Given the description of an element on the screen output the (x, y) to click on. 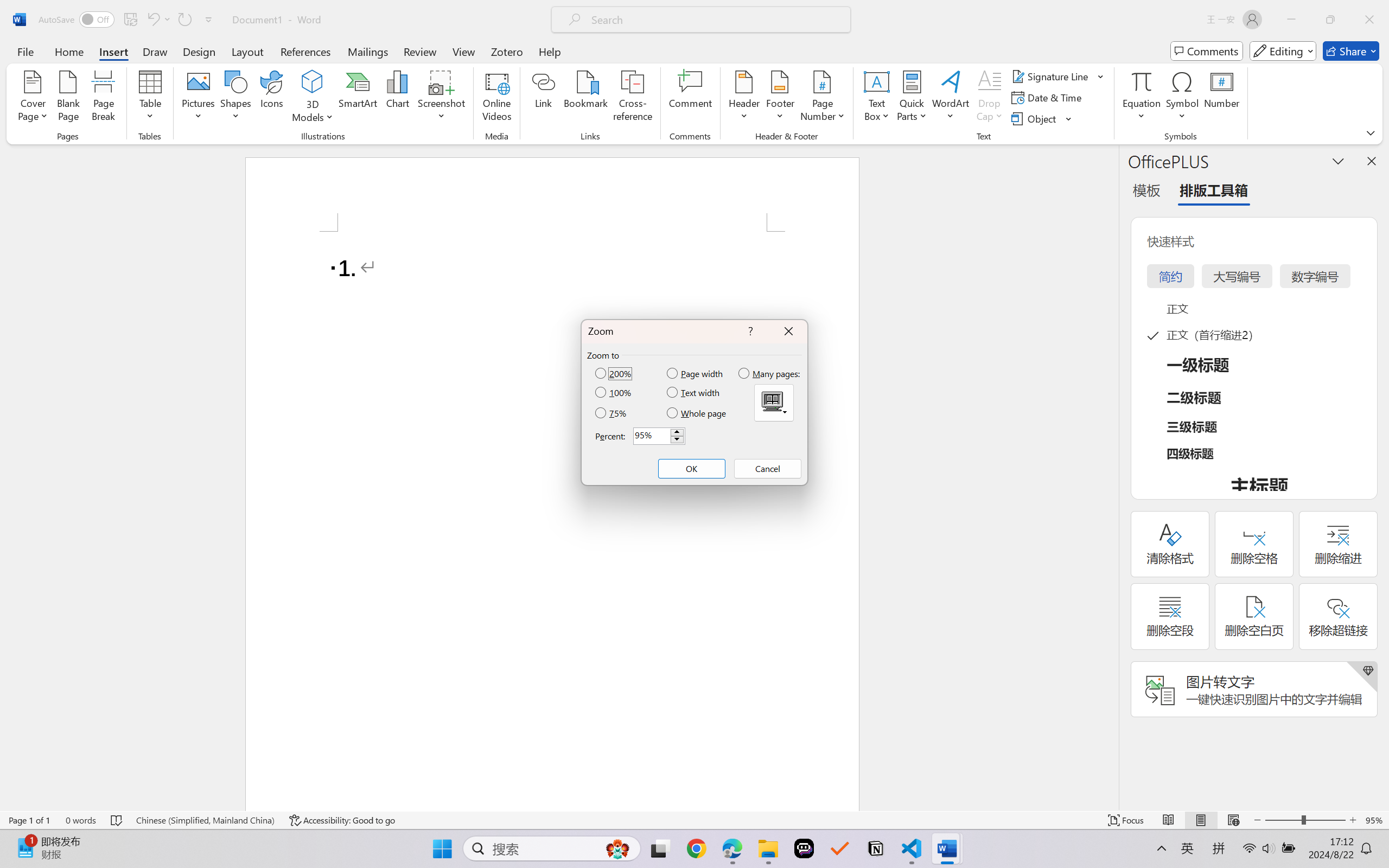
Cross-reference... (632, 97)
Page width (695, 373)
Table (149, 97)
Link (543, 97)
Footer (780, 97)
